Given the description of an element on the screen output the (x, y) to click on. 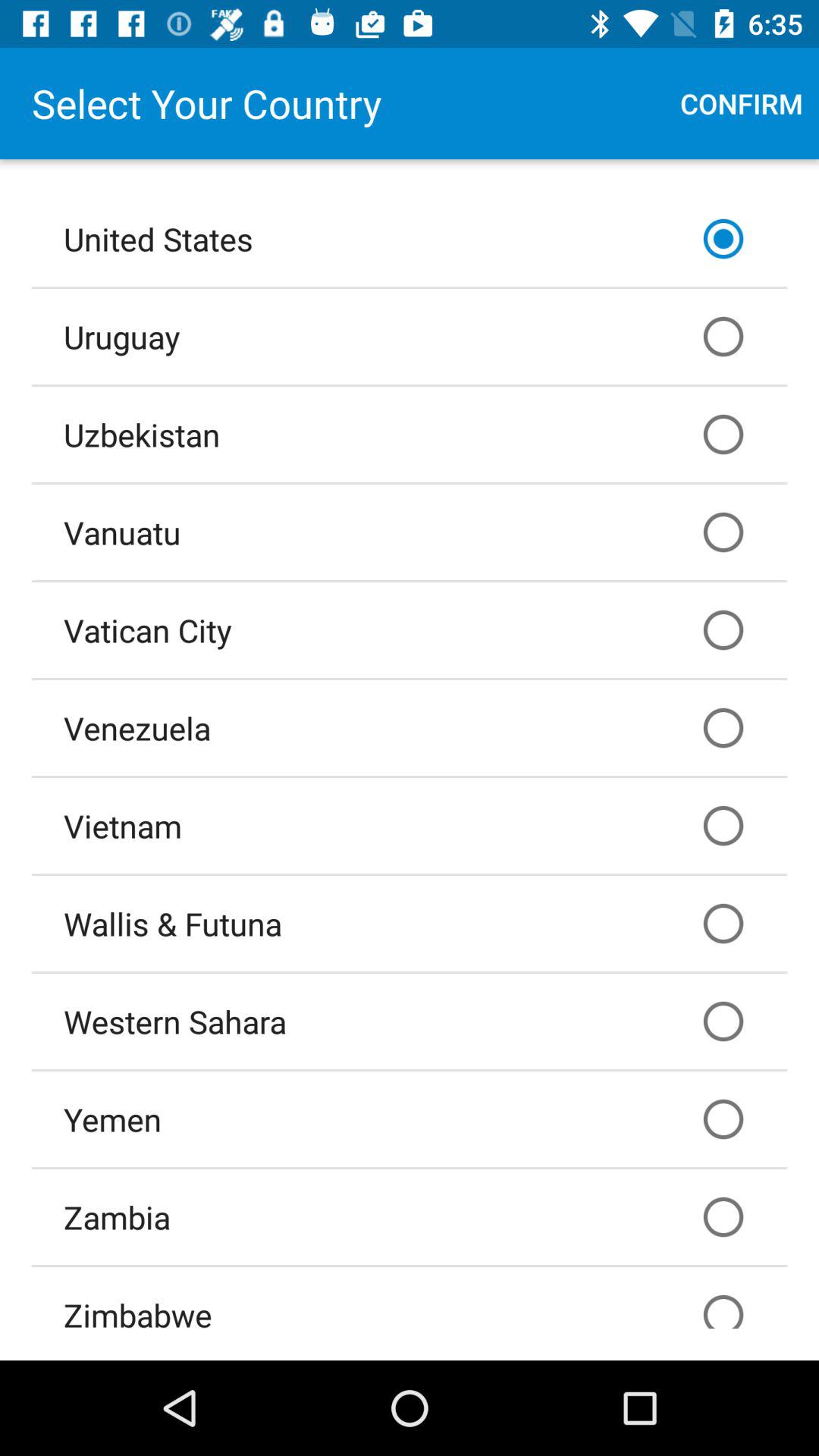
scroll to uruguay (409, 336)
